Given the description of an element on the screen output the (x, y) to click on. 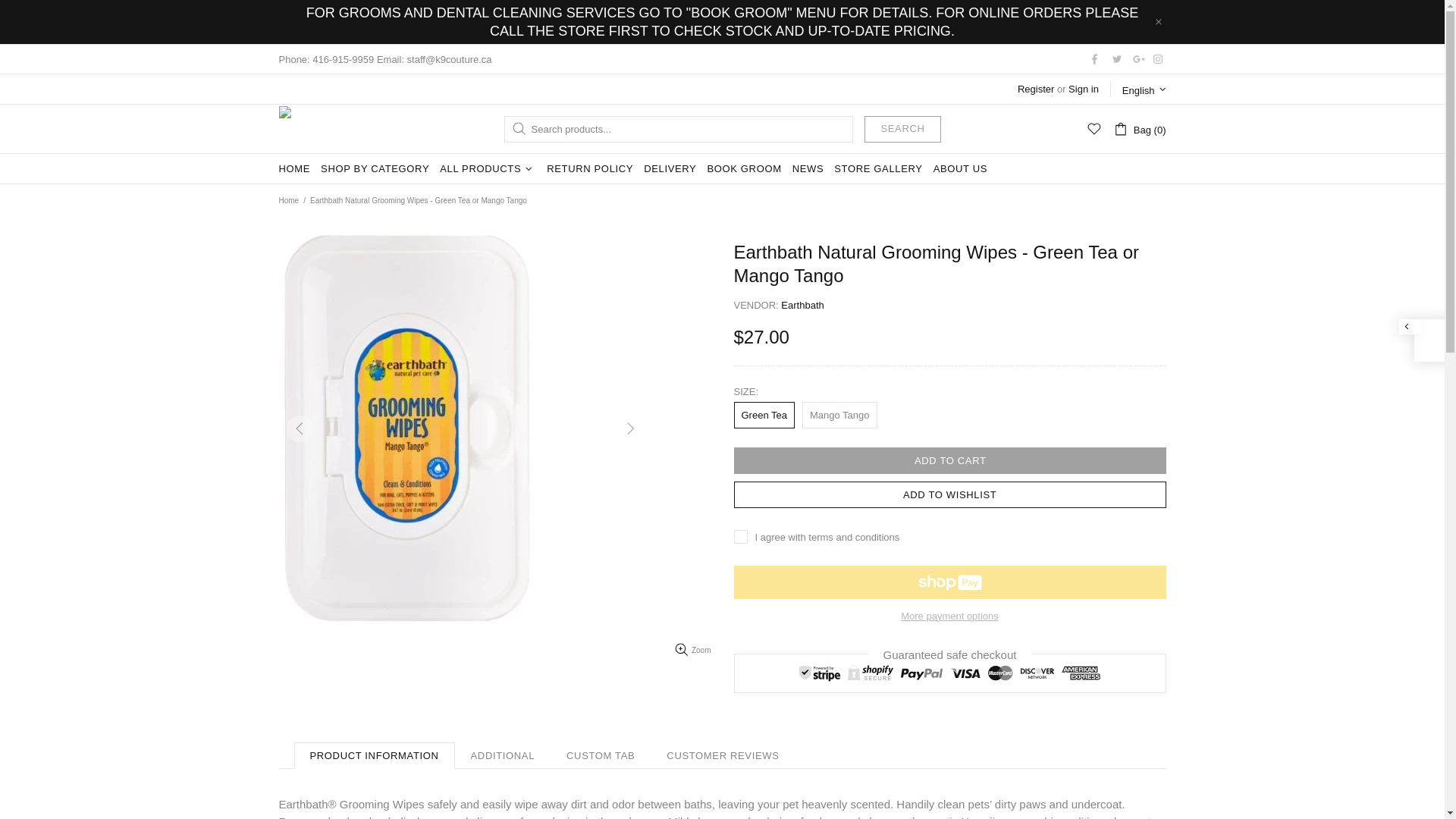
Sign in (1083, 88)
Register (1035, 88)
SHOP BY CATEGORY (374, 168)
ALL PRODUCTS (487, 168)
SEARCH (902, 129)
HOME (294, 168)
K9 Couture Inc. (308, 128)
